Given the description of an element on the screen output the (x, y) to click on. 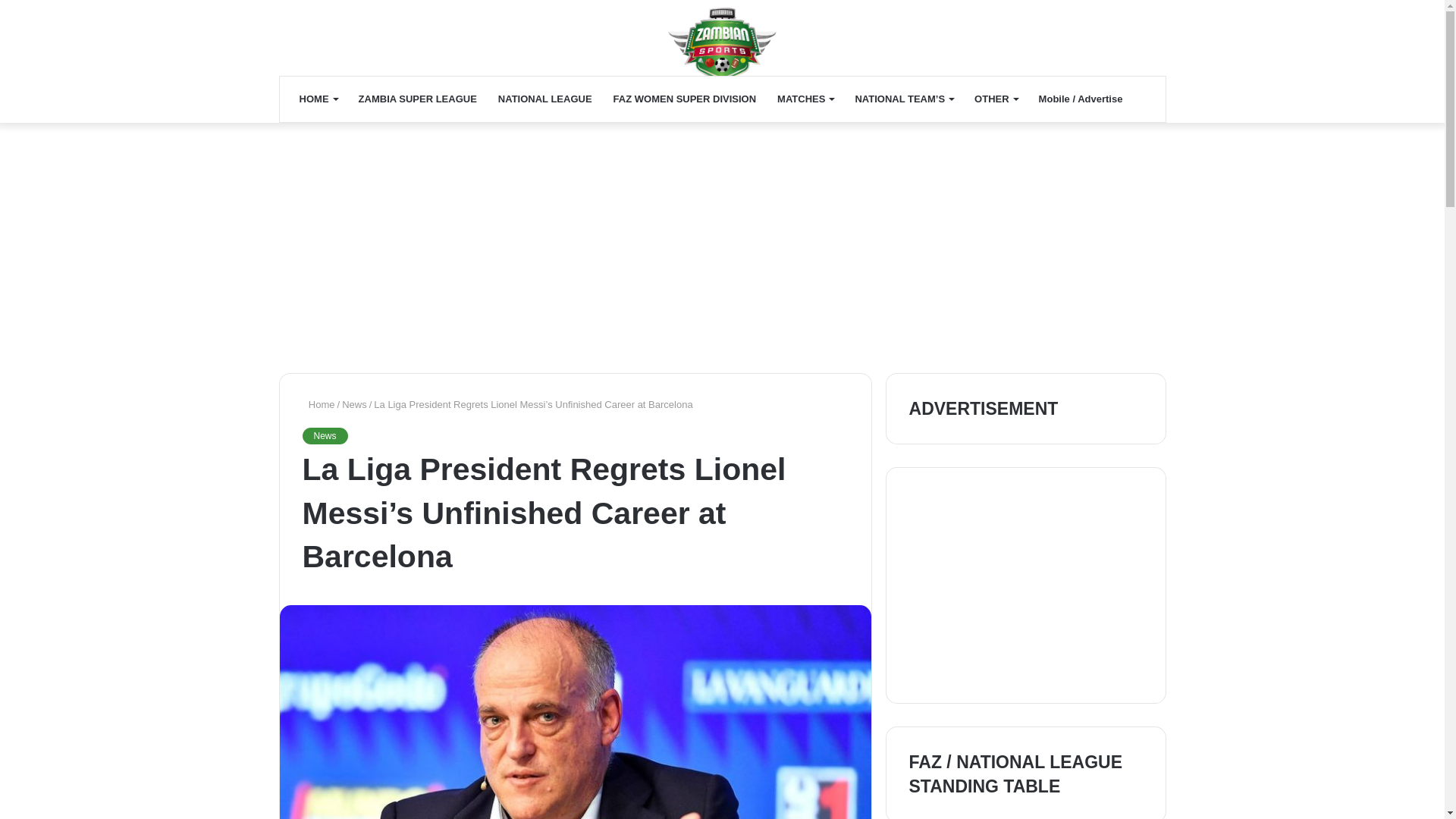
News (354, 404)
FAZ WOMEN SUPER DIVISION (684, 99)
ZAMBIA SUPER LEAGUE (417, 99)
Home (317, 404)
Zambian Sports (722, 45)
OTHER (995, 99)
News (324, 435)
MATCHES (805, 99)
NATIONAL LEAGUE (544, 99)
HOME (317, 99)
